Given the description of an element on the screen output the (x, y) to click on. 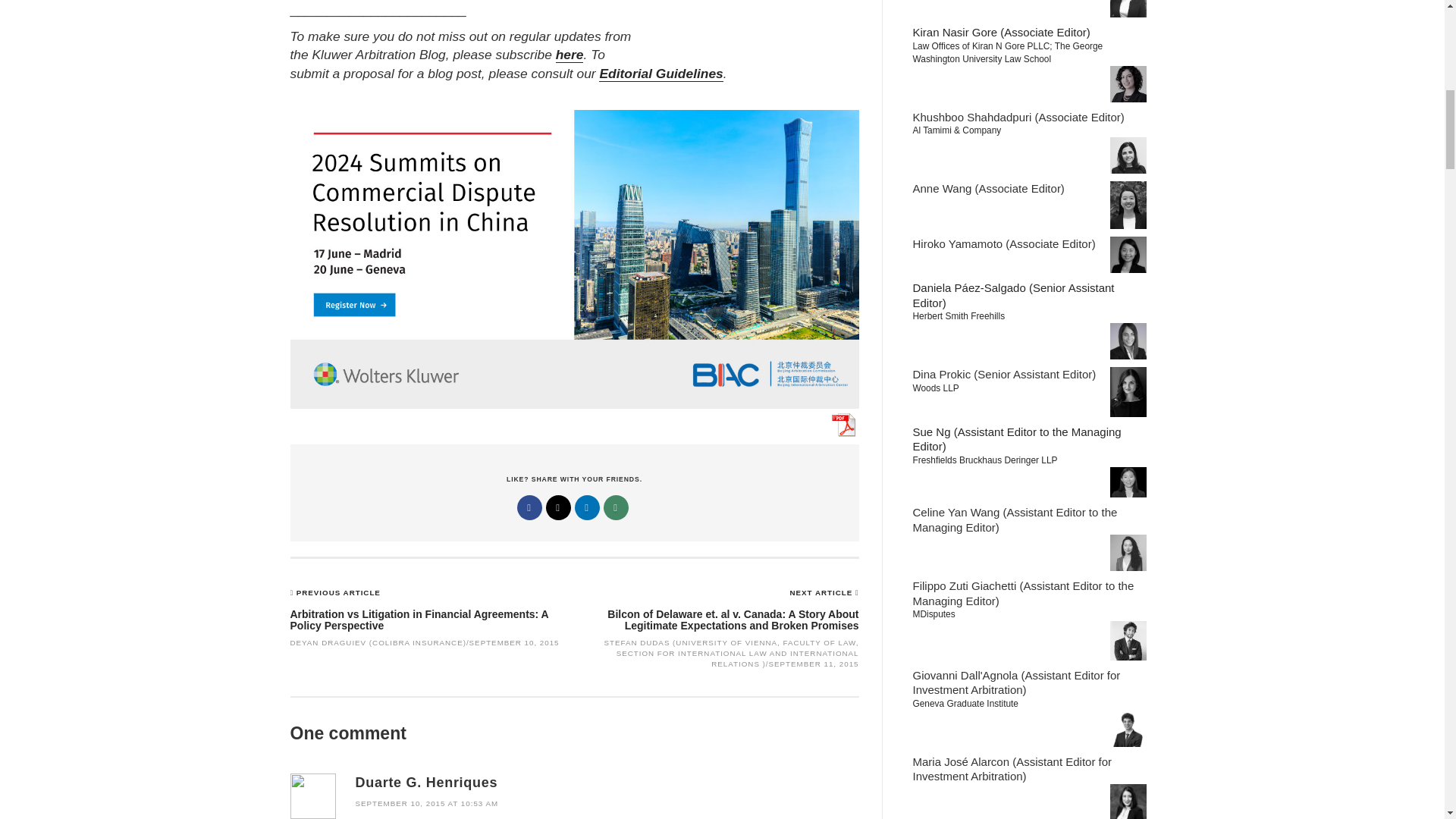
NEXT ARTICLE (823, 592)
DEYAN DRAGUIEV (327, 642)
SEPTEMBER 10, 2015 (513, 642)
here (569, 54)
PREVIOUS ARTICLE (338, 592)
STEFAN DUDAS (636, 642)
Editorial Guidelines (660, 73)
